Given the description of an element on the screen output the (x, y) to click on. 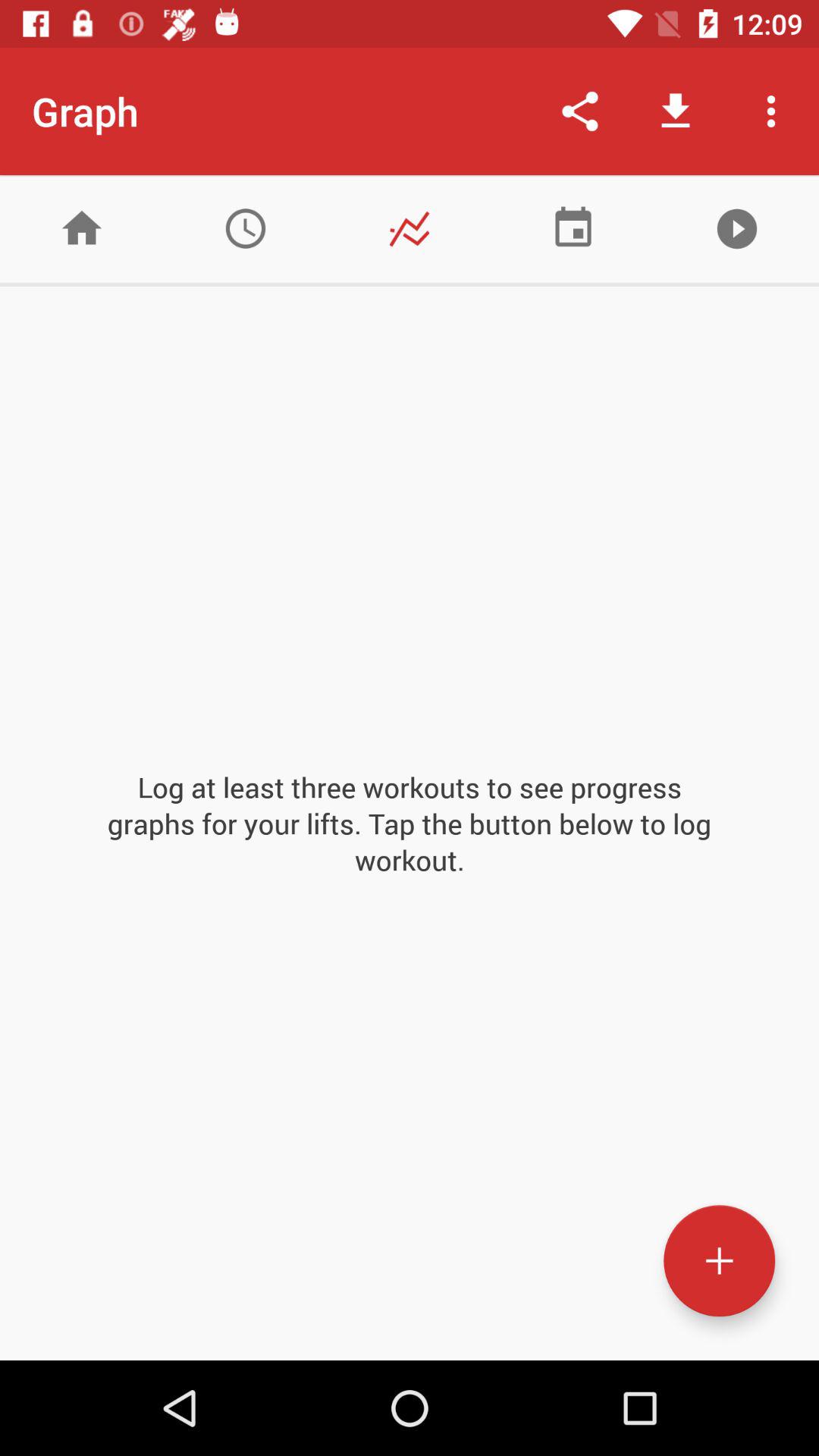
calendar (573, 228)
